Given the description of an element on the screen output the (x, y) to click on. 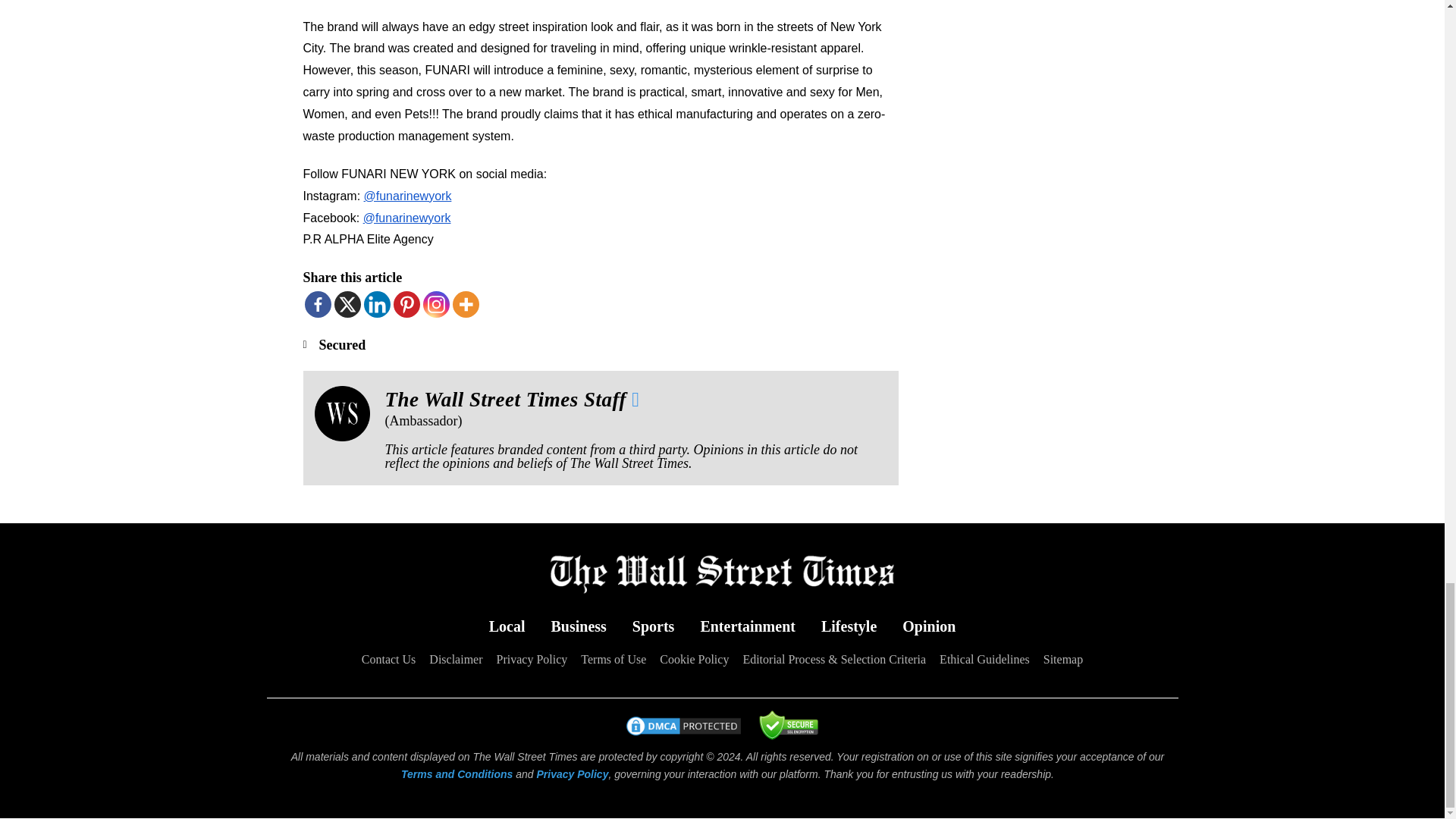
More (465, 304)
DMCA.com Protection Status (682, 733)
Facebook (317, 304)
X (346, 304)
Linkedin (377, 304)
Pinterest (406, 304)
Instagram (436, 304)
